Given the description of an element on the screen output the (x, y) to click on. 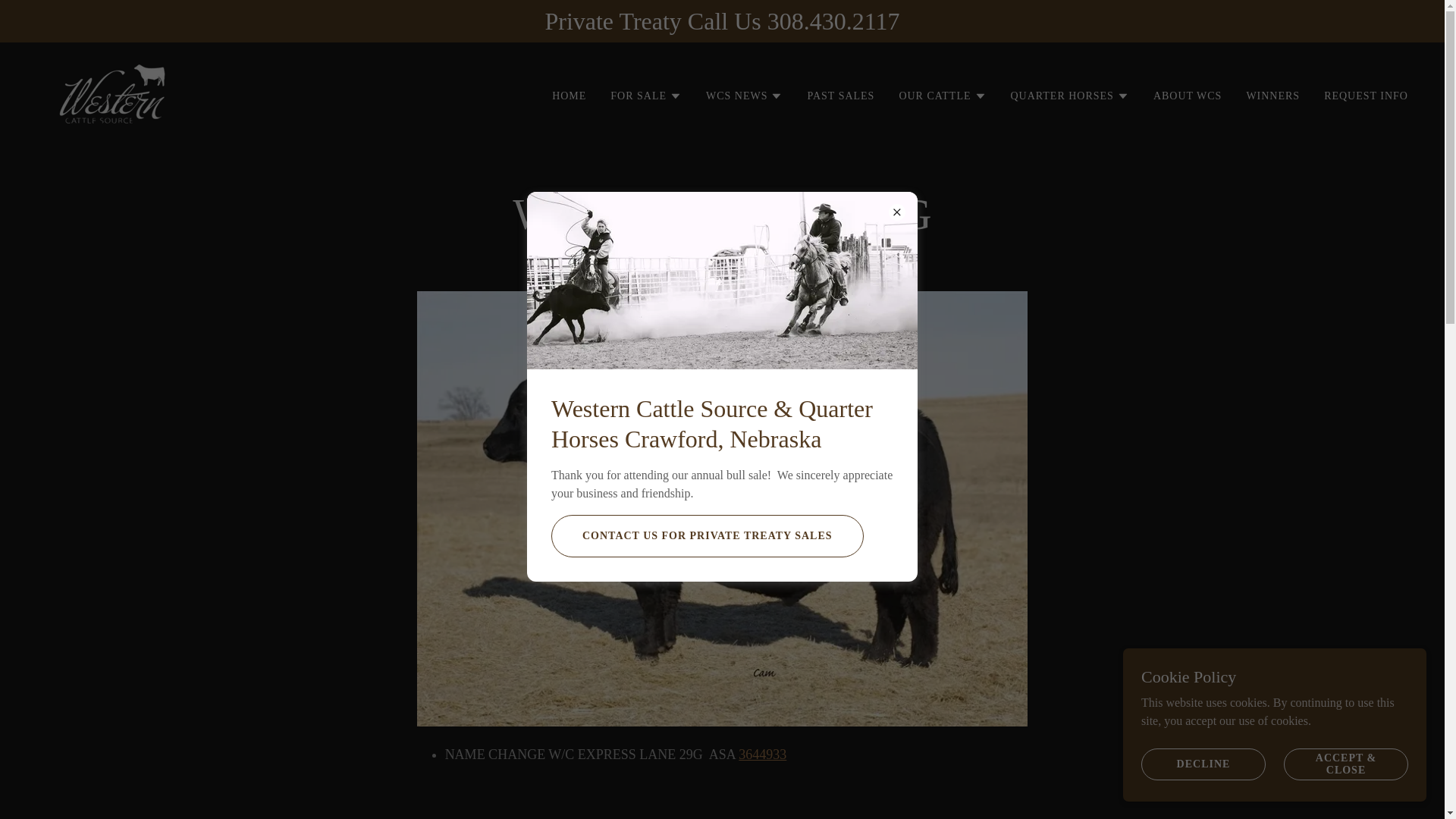
REQUEST INFO (1365, 94)
OUR CATTLE (941, 95)
PAST SALES (840, 94)
WCS NEWS (744, 95)
ABOUT WCS (1187, 94)
HOME (569, 94)
QUARTER HORSES (1069, 95)
Western Cattle Source (111, 92)
WINNERS (1272, 94)
FOR SALE (645, 95)
